Given the description of an element on the screen output the (x, y) to click on. 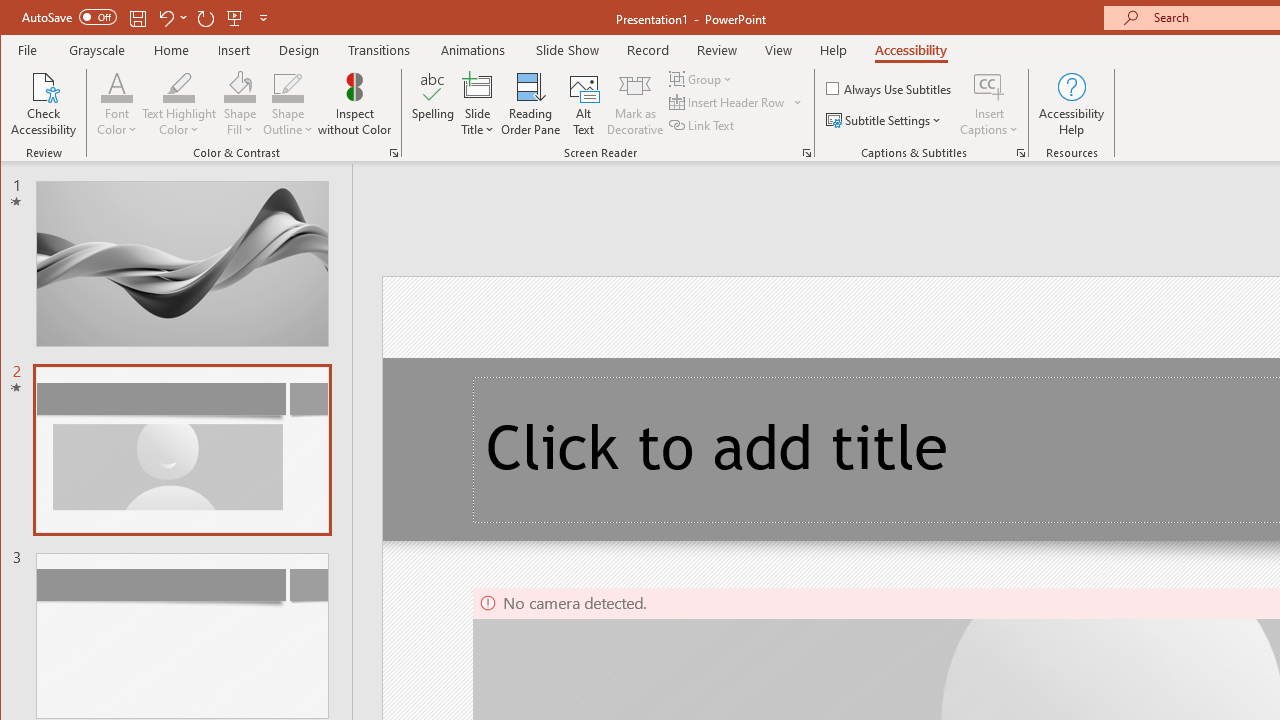
Captions & Subtitles (1020, 152)
Shape Outline (288, 104)
Color & Contrast (393, 152)
Text Highlight Color (178, 86)
Shape Fill Orange, Accent 2 (239, 86)
Insert Header Row (735, 101)
Accessibility (910, 50)
Slide Title (477, 104)
